Given the description of an element on the screen output the (x, y) to click on. 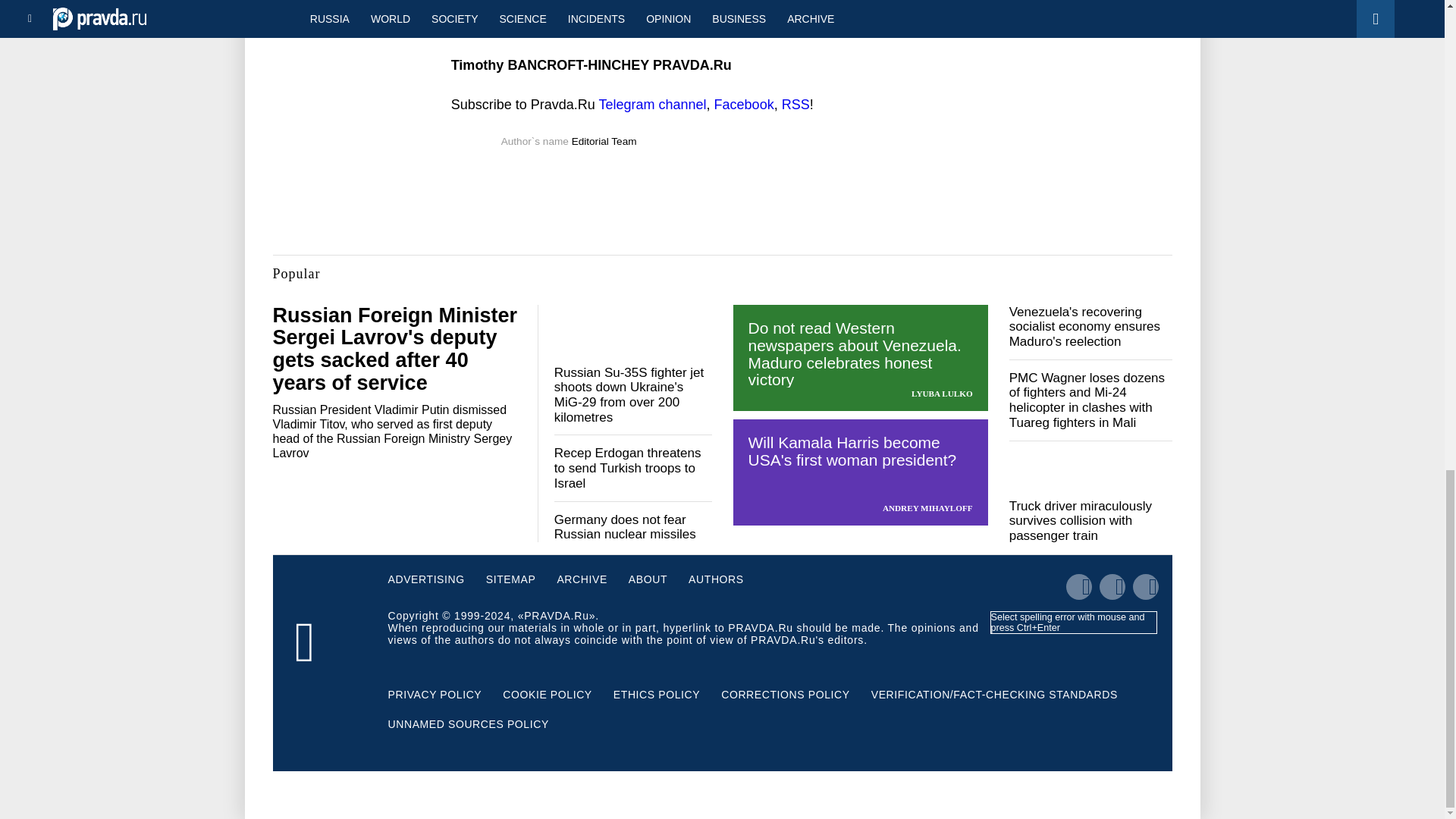
Facebook (744, 104)
Editorial Team (604, 141)
Telegram channel (652, 104)
RSS (795, 104)
